Given the description of an element on the screen output the (x, y) to click on. 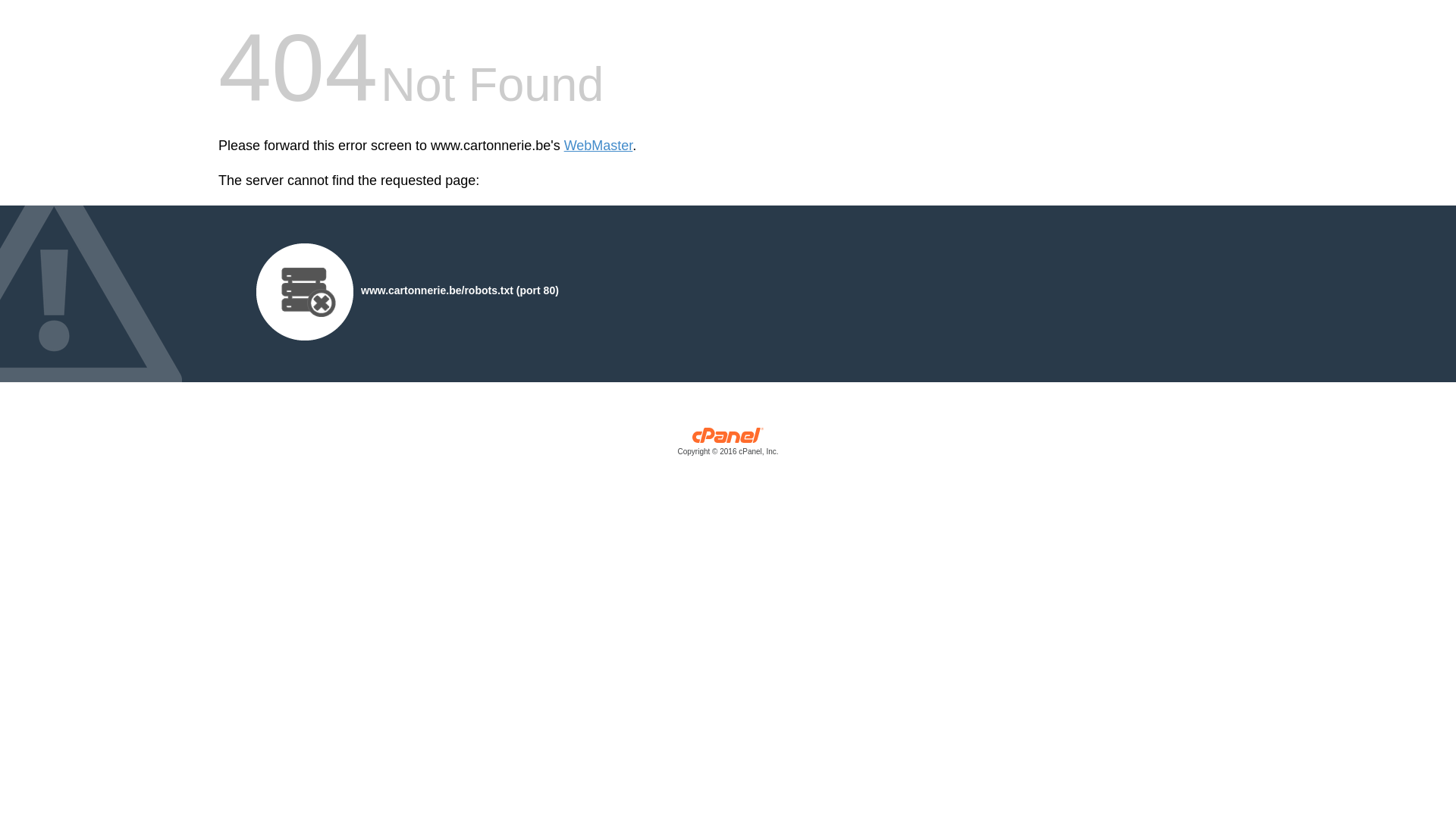
WebMaster Element type: text (598, 145)
